Given the description of an element on the screen output the (x, y) to click on. 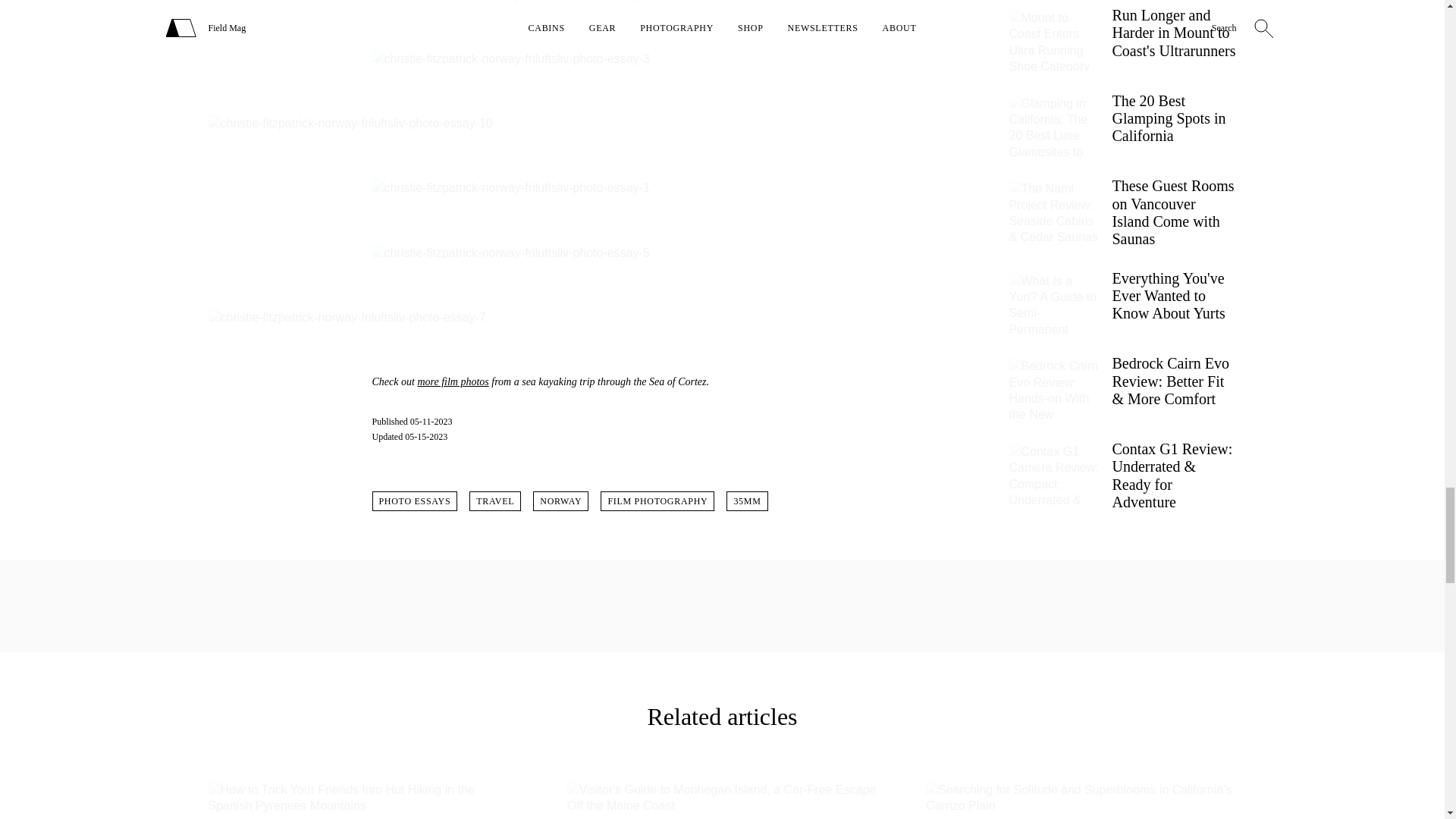
FILM PHOTOGRAPHY (656, 501)
NORWAY (560, 501)
TRAVEL (494, 501)
35MM (746, 501)
PHOTO ESSAYS (414, 501)
more film photos (451, 381)
